Given the description of an element on the screen output the (x, y) to click on. 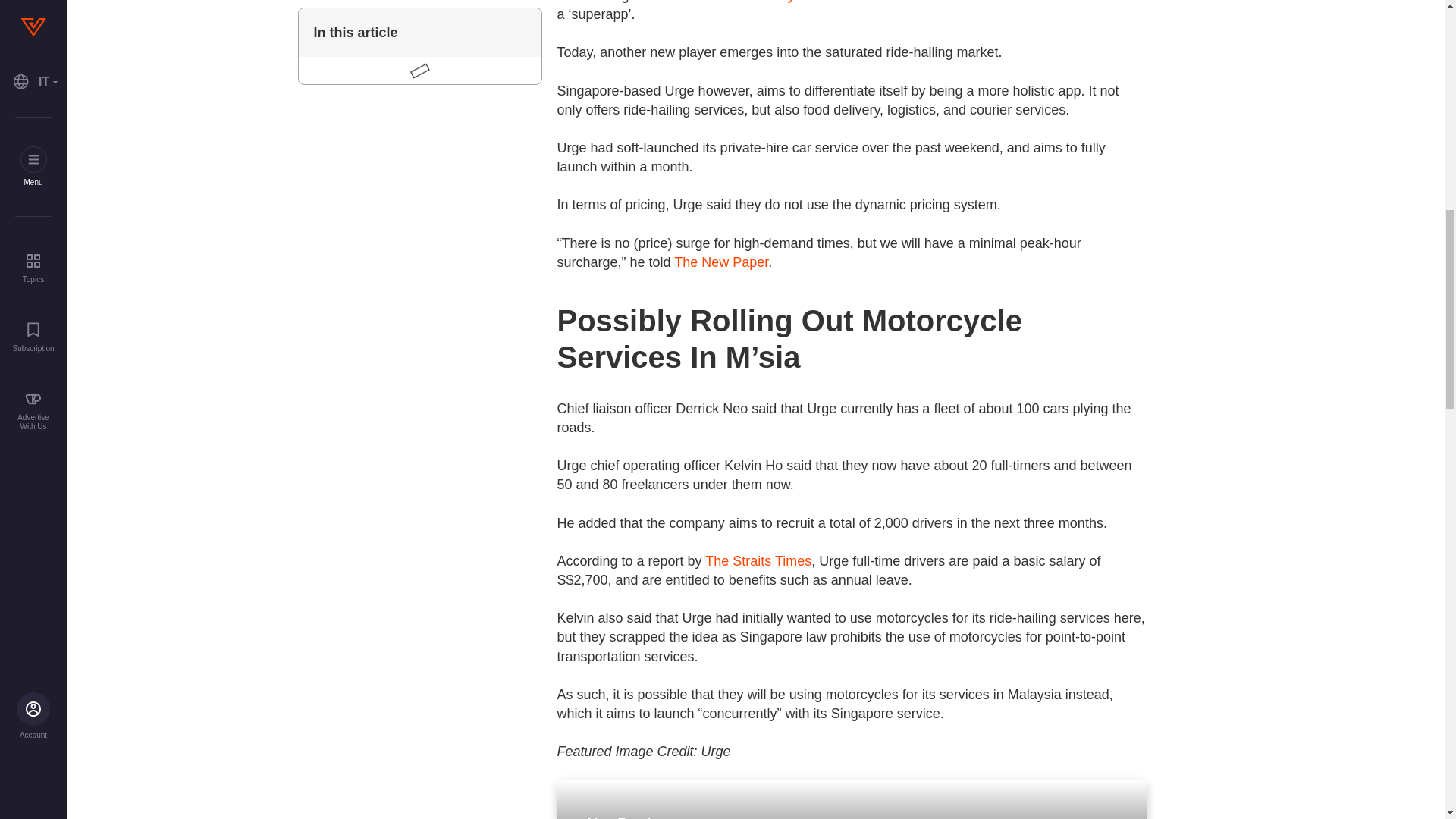
The Straits Times (757, 560)
Ryde (793, 1)
The New Paper (721, 262)
Grab (732, 1)
